Given the description of an element on the screen output the (x, y) to click on. 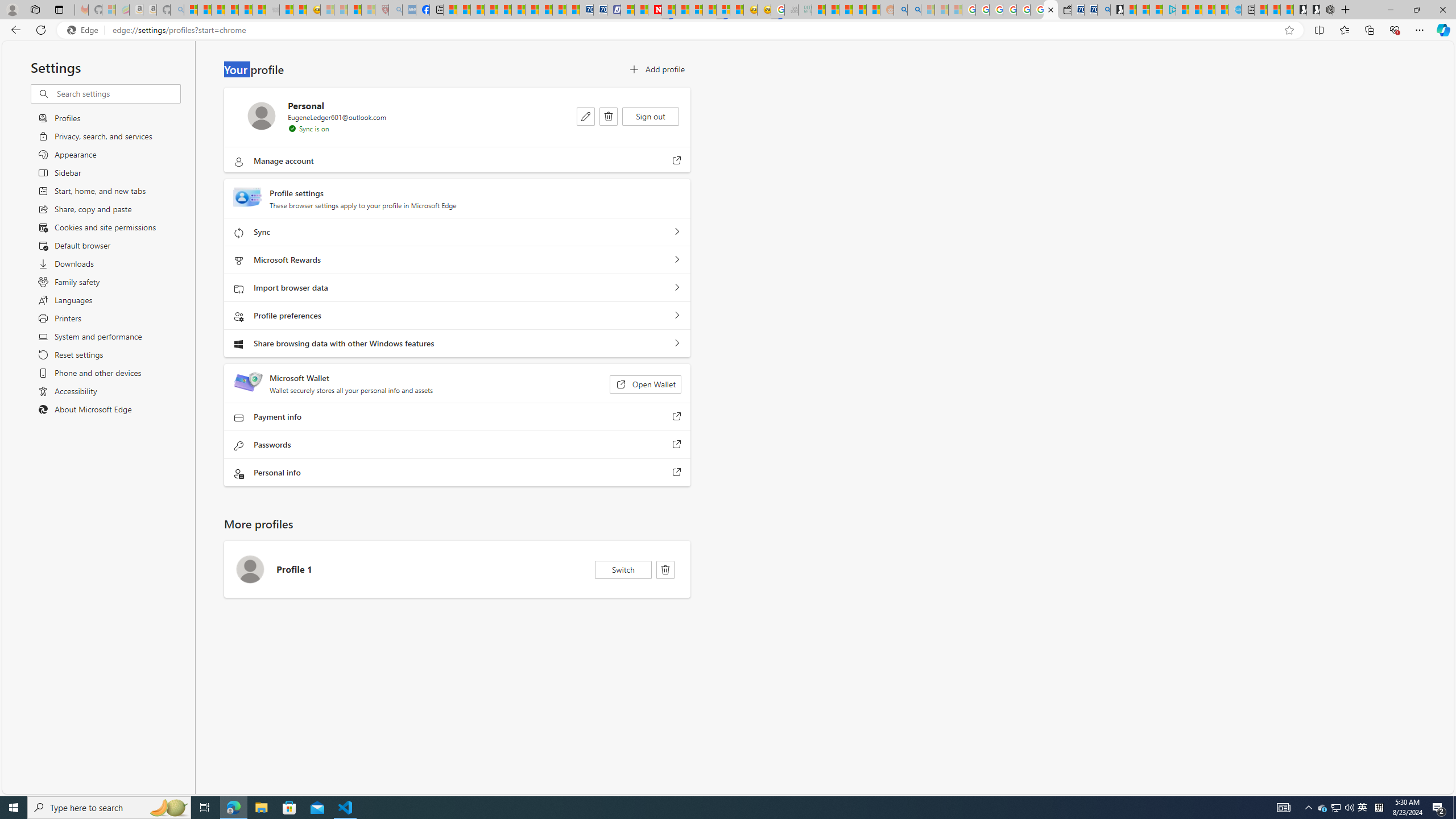
Manage account (676, 160)
Payment info (676, 417)
Home | Sky Blue Bikes - Sky Blue Bikes (1234, 9)
Student Loan Update: Forgiveness Program Ends This Month (858, 9)
Play Free Online Games | Games from Microsoft Start (1312, 9)
